Given the description of an element on the screen output the (x, y) to click on. 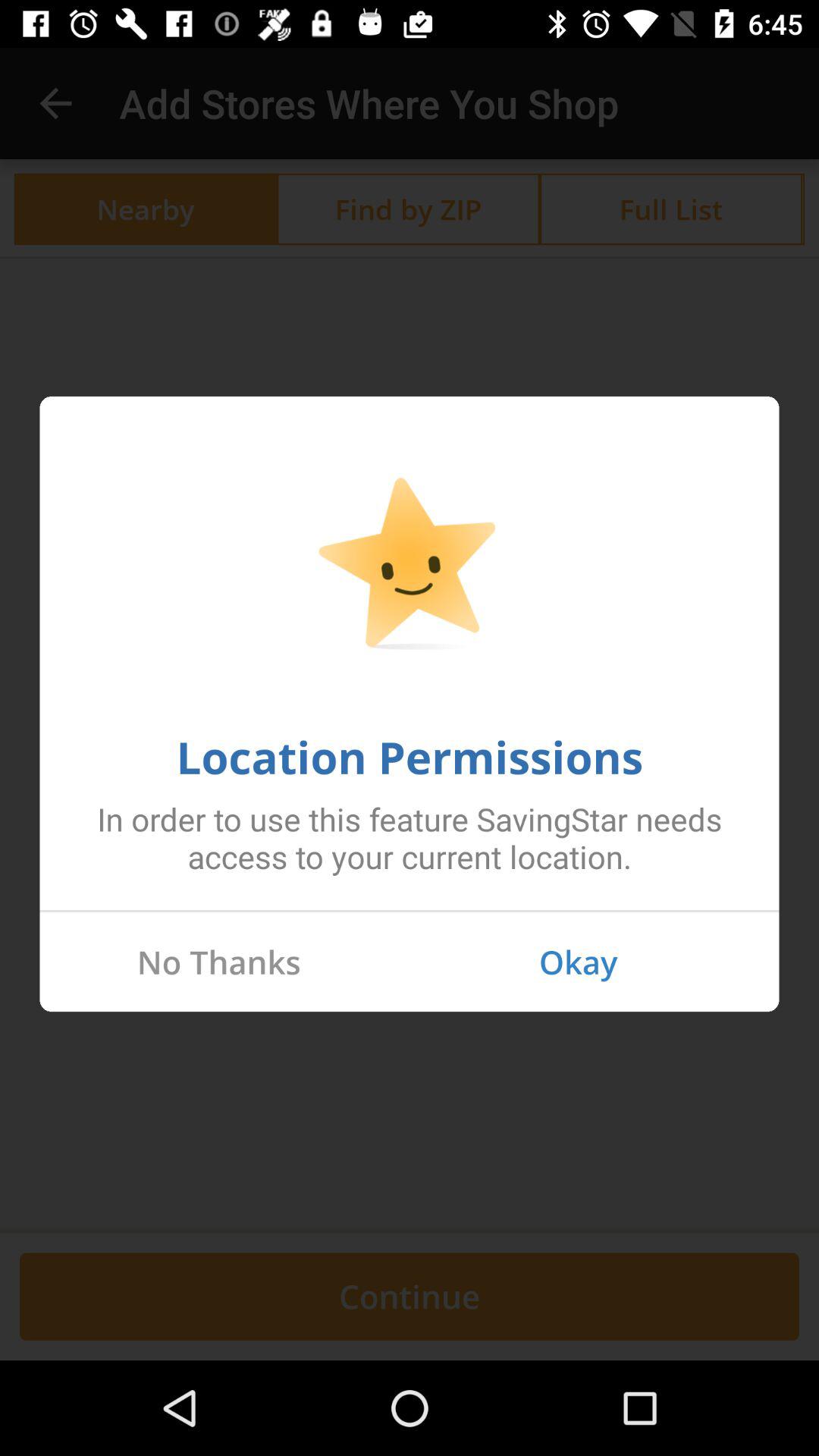
choose the item below the in order to icon (409, 911)
